Given the description of an element on the screen output the (x, y) to click on. 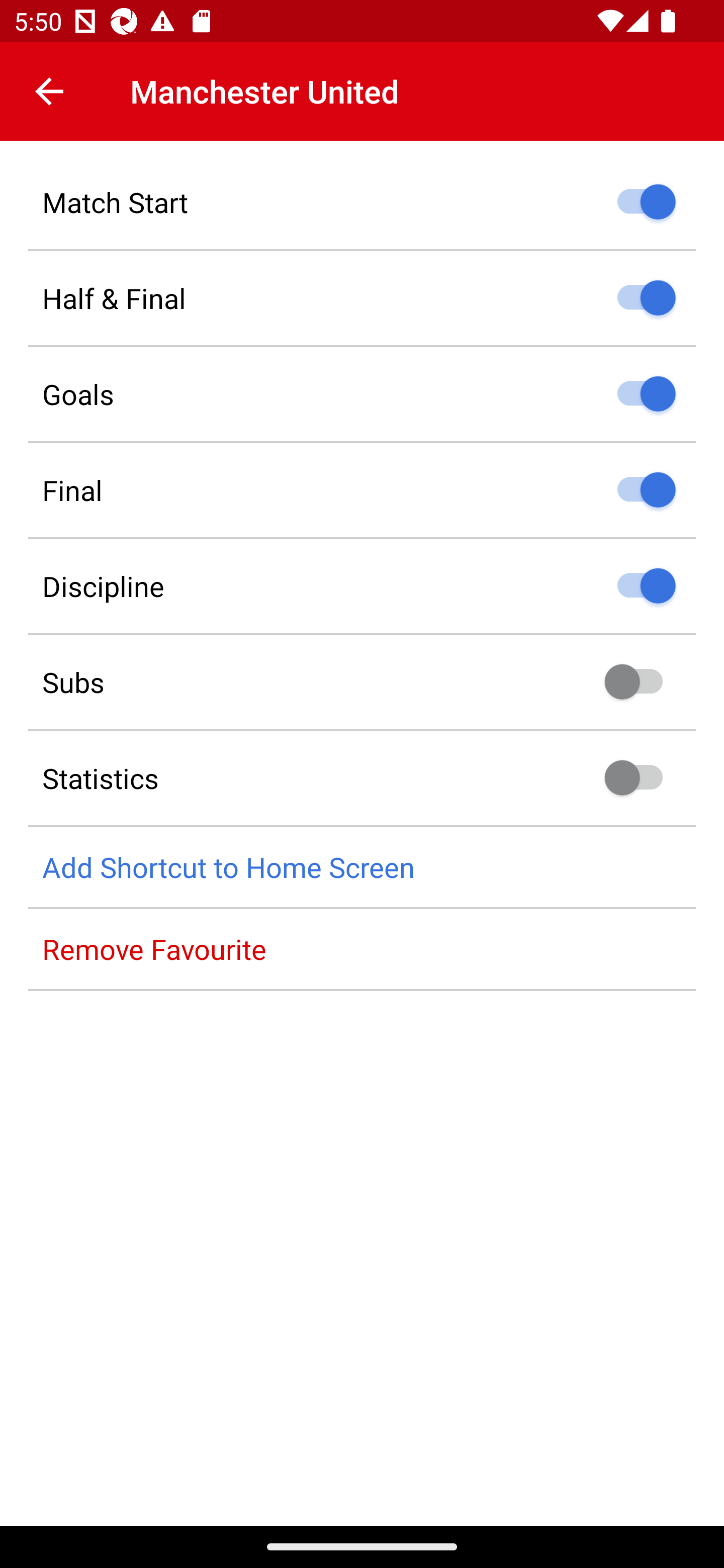
Navigate up (49, 91)
Add Shortcut to Home Screen (362, 867)
Remove Favourite (362, 948)
